Given the description of an element on the screen output the (x, y) to click on. 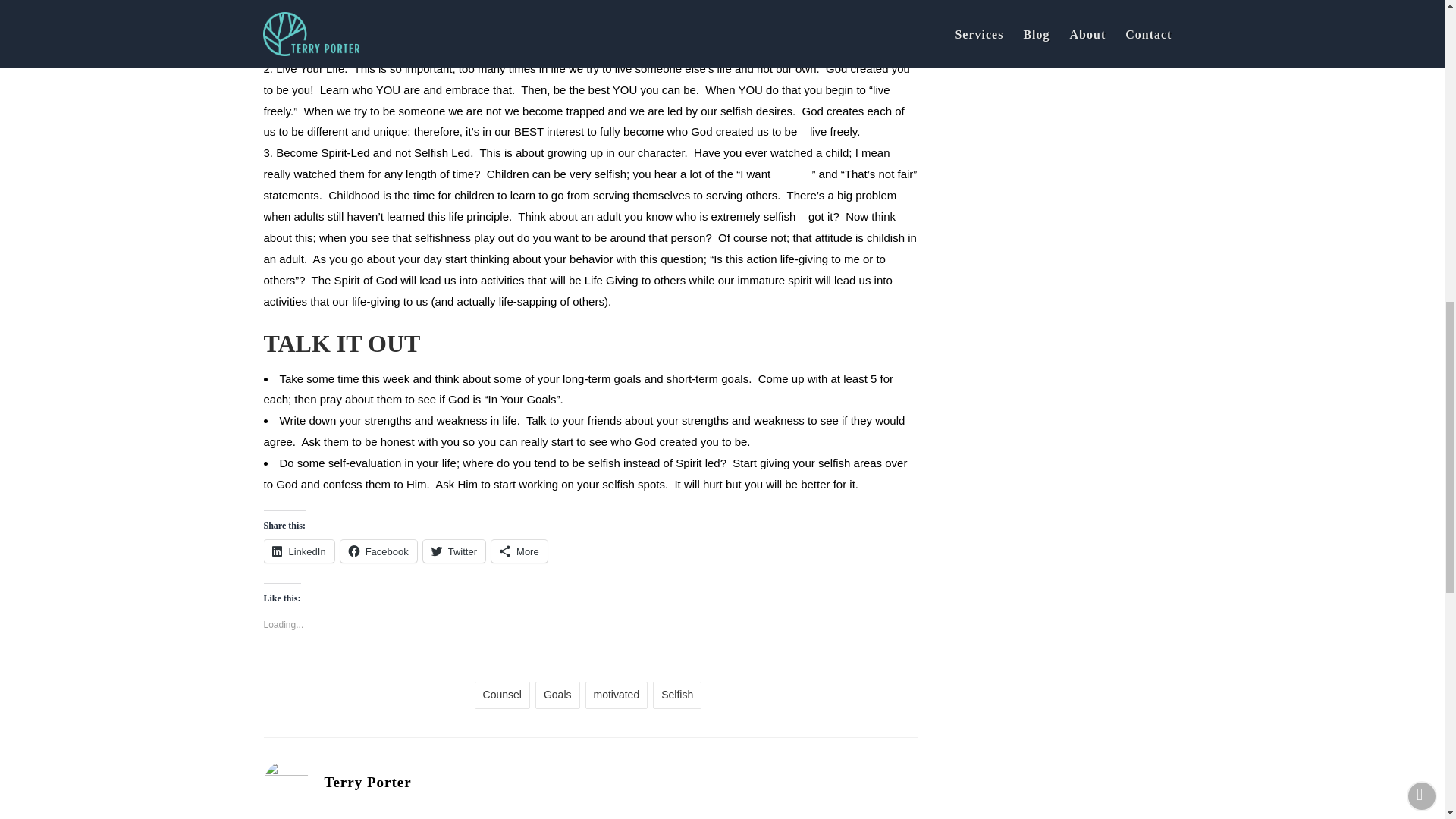
More (519, 550)
Click to share on Facebook (378, 550)
Twitter (453, 550)
Click to share on LinkedIn (298, 550)
LinkedIn (298, 550)
motivated (616, 695)
Selfish (676, 695)
Facebook (378, 550)
Goals (557, 695)
Click to share on Twitter (453, 550)
